Given the description of an element on the screen output the (x, y) to click on. 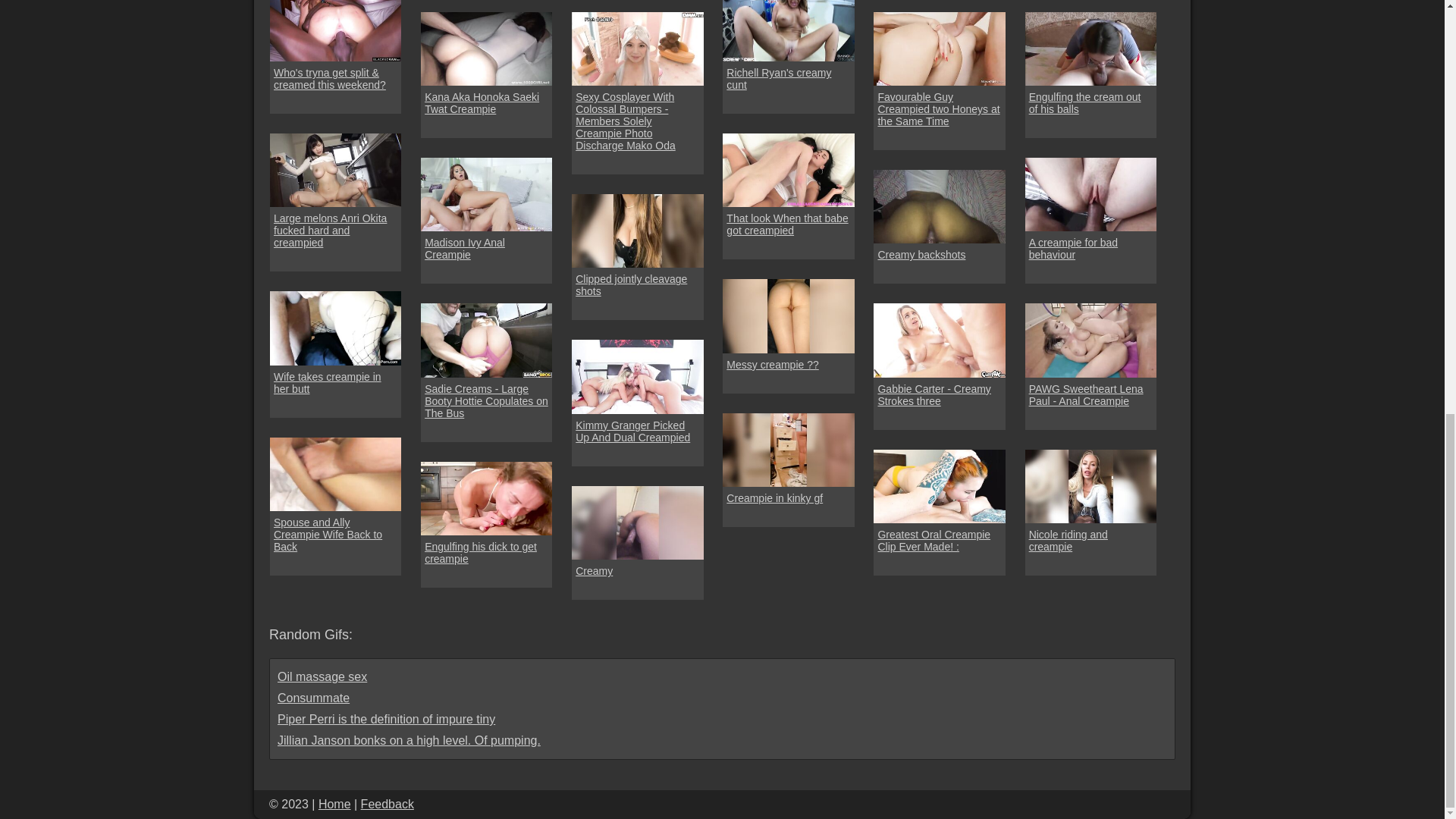
Favourable Guy Creampied two Honeys at the Same Time (939, 108)
Large melons Anri Okita fucked hard and creampied (335, 230)
Madison Ivy Anal Creampie (486, 248)
A creampie for bad behaviour (1091, 248)
Richell Ryan's creamy cunt (788, 78)
Creamy backshots (921, 254)
Engulfing the cream out of his balls (1091, 102)
That look When that babe got creampied (788, 224)
Kana Aka Honoka Saeki Twat Creampie (486, 102)
